Given the description of an element on the screen output the (x, y) to click on. 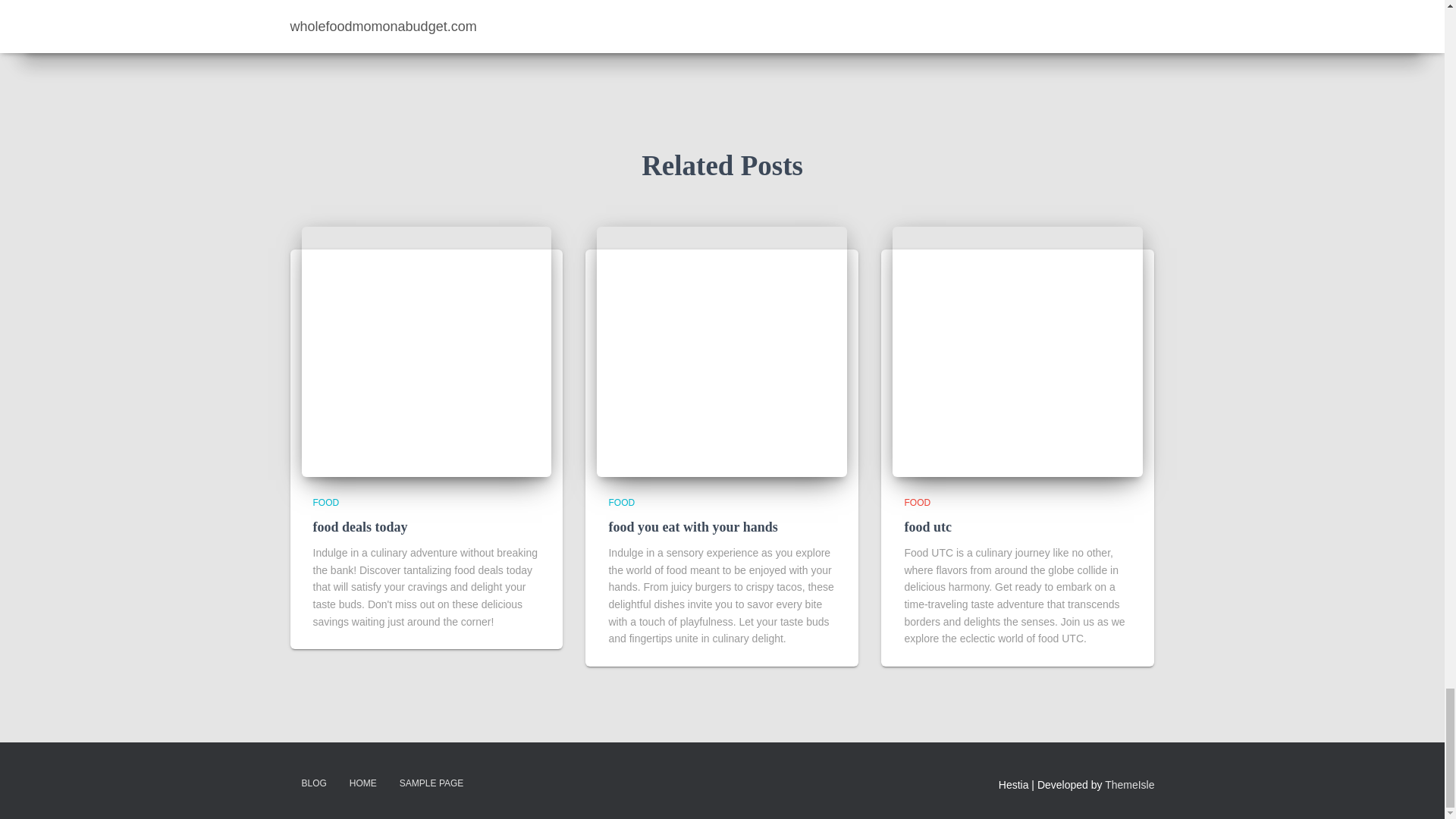
View all posts in Food (621, 502)
View all posts in Food (326, 502)
food you eat with your hands (692, 526)
food you eat with your hands (721, 351)
food utc (1017, 351)
food deals today (360, 526)
food deals today (426, 351)
